Given the description of an element on the screen output the (x, y) to click on. 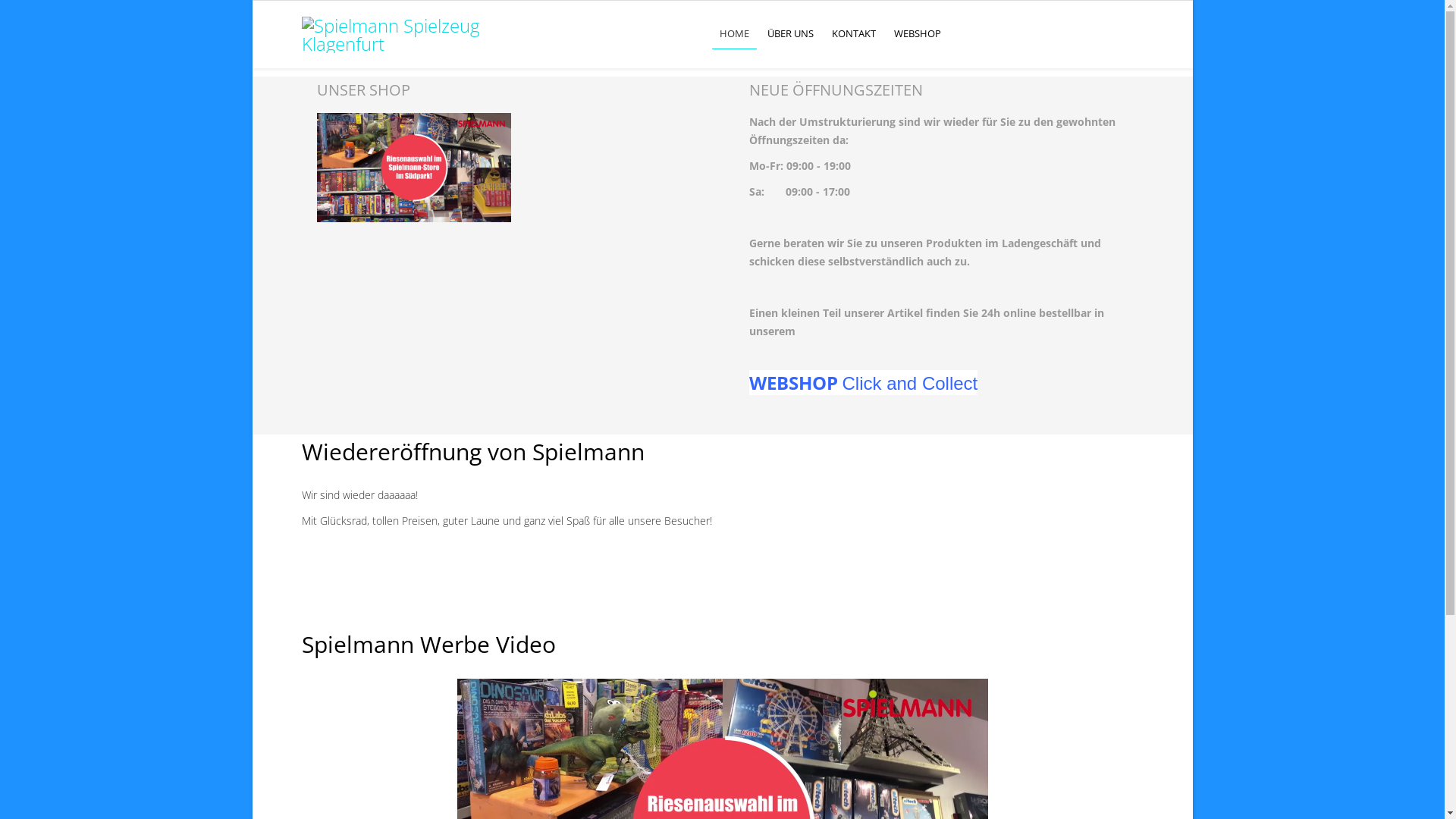
WEBSHOP Click and Collect Element type: text (863, 382)
KONTAKT Element type: text (853, 33)
WEBSHOP Element type: text (917, 33)
Spielmann Werbe Video Element type: text (428, 643)
HOME Element type: text (734, 33)
